Given the description of an element on the screen output the (x, y) to click on. 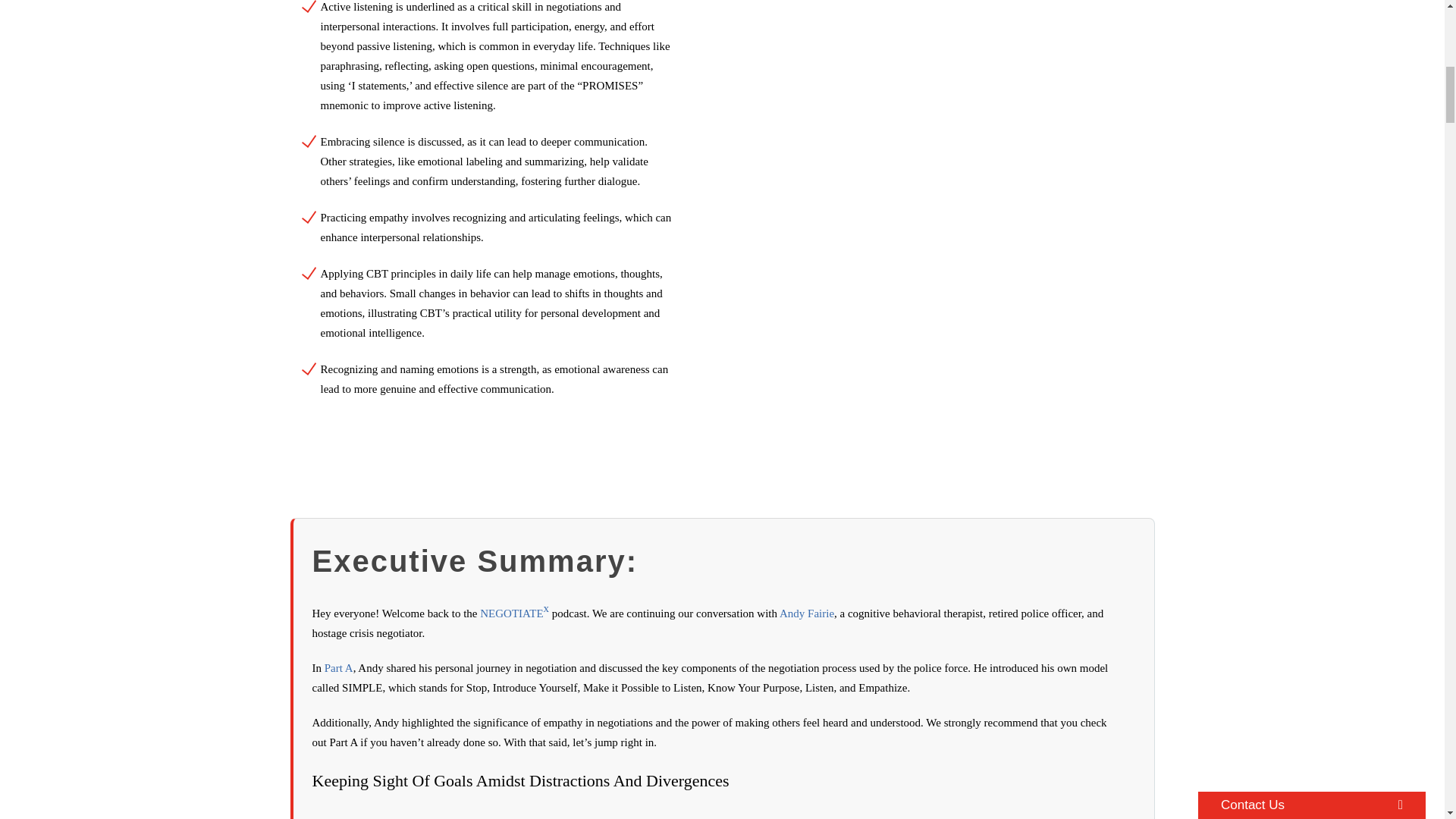
Andy Fairie (806, 617)
Part A (338, 672)
NEGOTIATEx (514, 616)
